Given the description of an element on the screen output the (x, y) to click on. 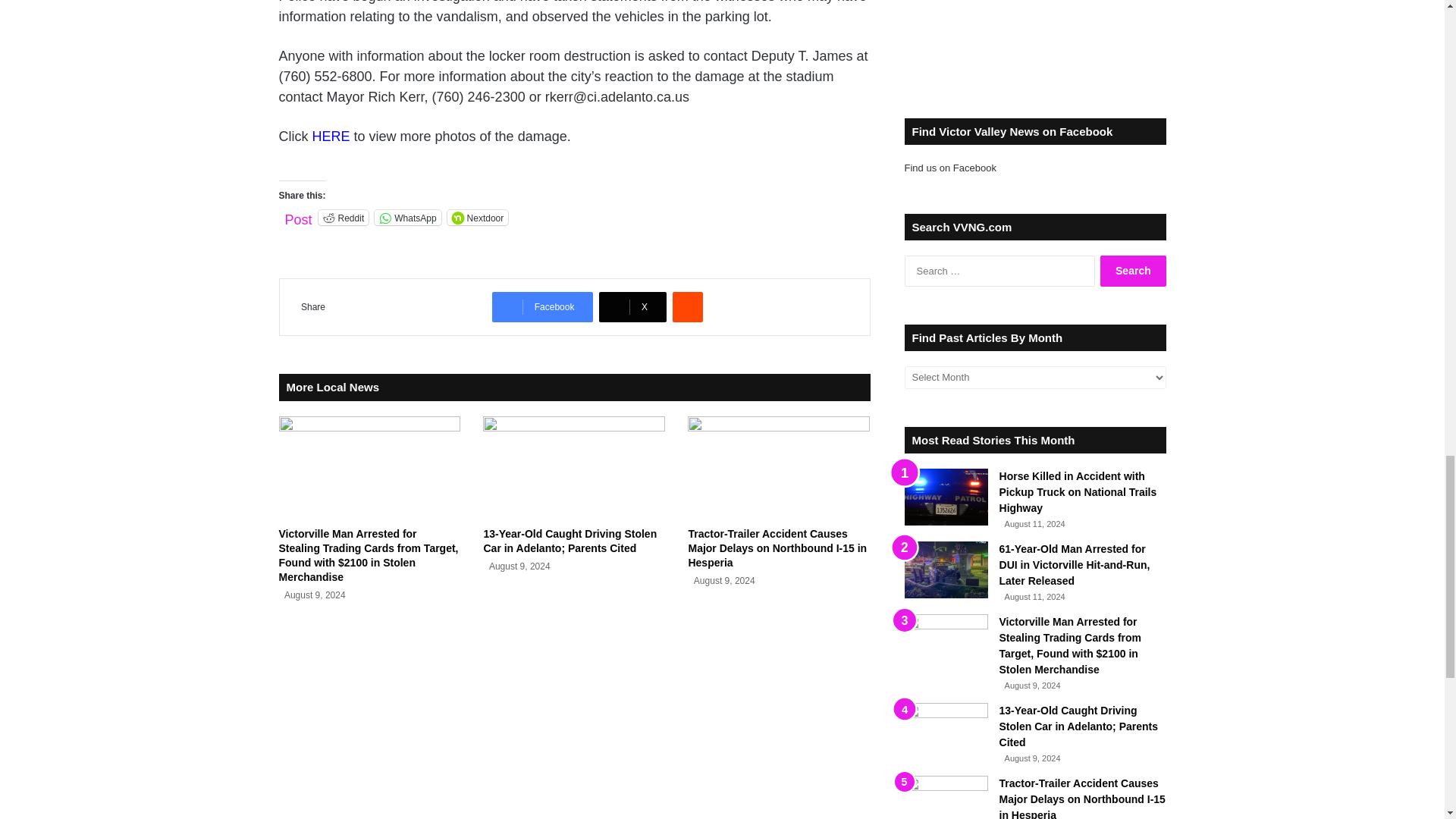
Search (1133, 270)
Nextdoor (477, 217)
Click to share on Reddit (343, 217)
Search (1133, 270)
Click to share on Nextdoor (477, 217)
Reddit (343, 217)
WhatsApp (407, 217)
Click to share on WhatsApp (407, 217)
HERE (331, 136)
Post (299, 216)
